Given the description of an element on the screen output the (x, y) to click on. 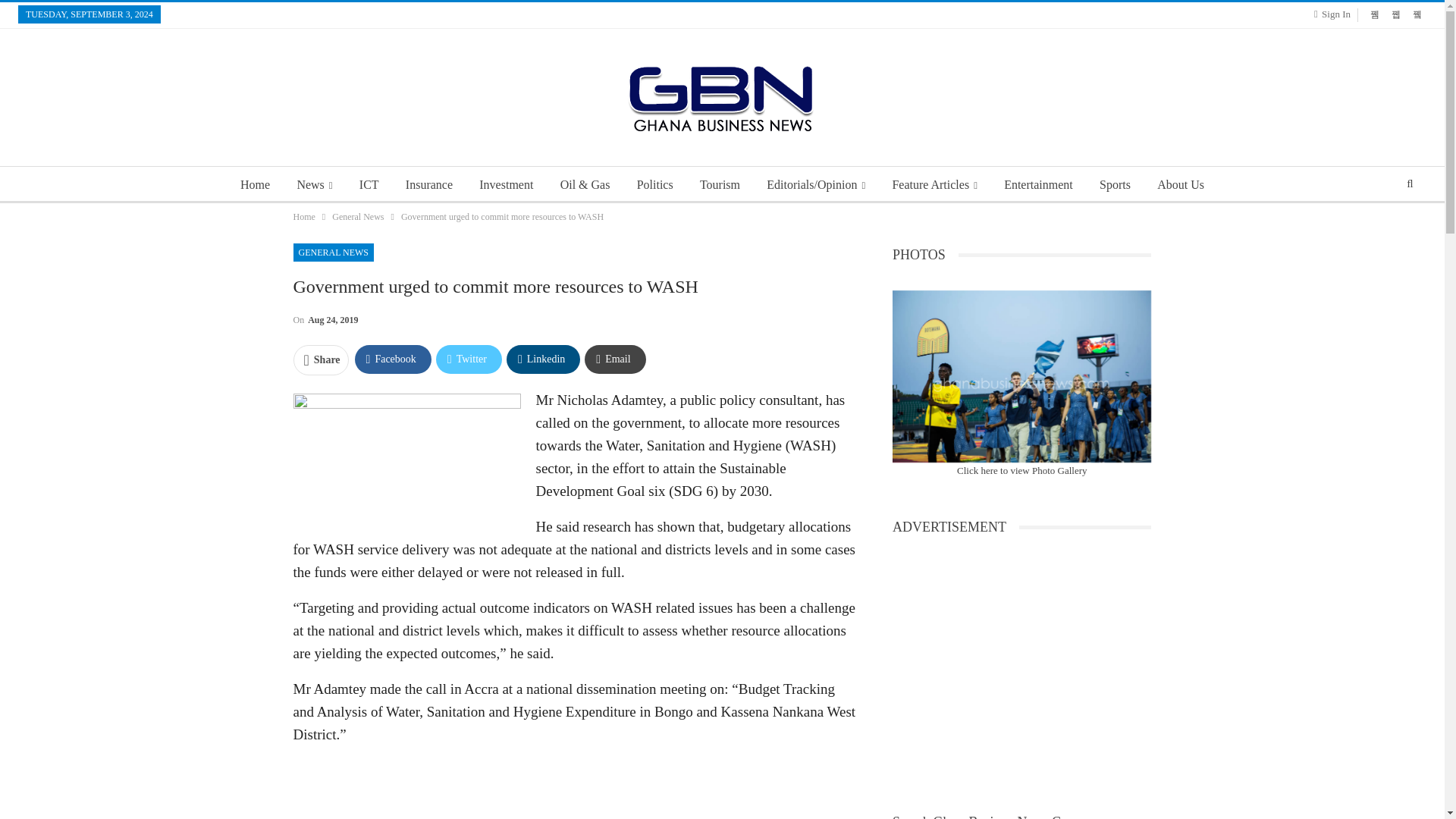
News (313, 185)
Politics (654, 185)
Linkedin (542, 358)
Insurance (428, 185)
ICT (369, 185)
Sports (1115, 185)
Tourism (719, 185)
Feature Articles (934, 185)
Twitter (468, 358)
Click here to view Photo Gallery (1021, 470)
